Given the description of an element on the screen output the (x, y) to click on. 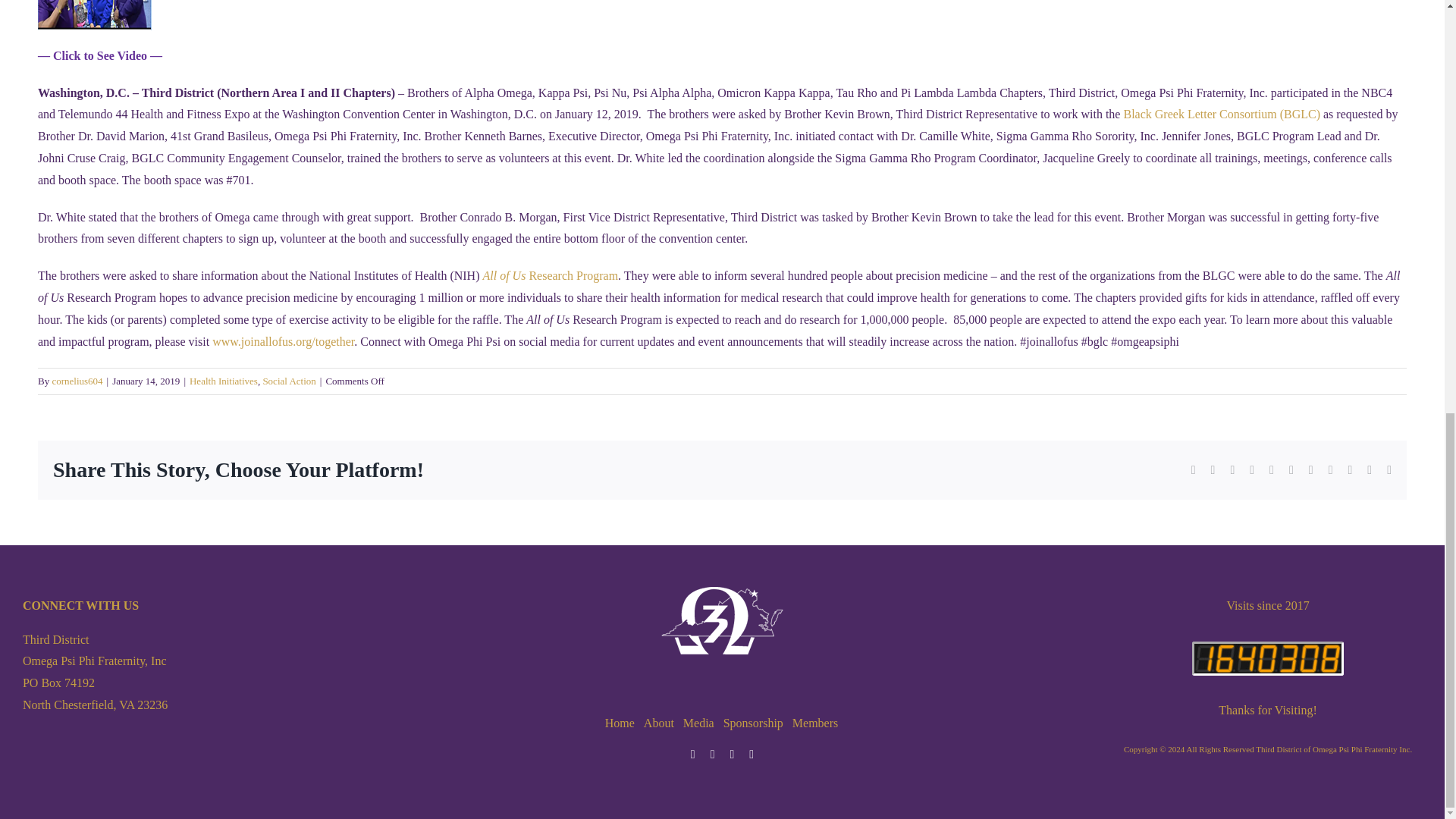
logo-footer (722, 621)
Posts by cornelius604 (75, 380)
